Given the description of an element on the screen output the (x, y) to click on. 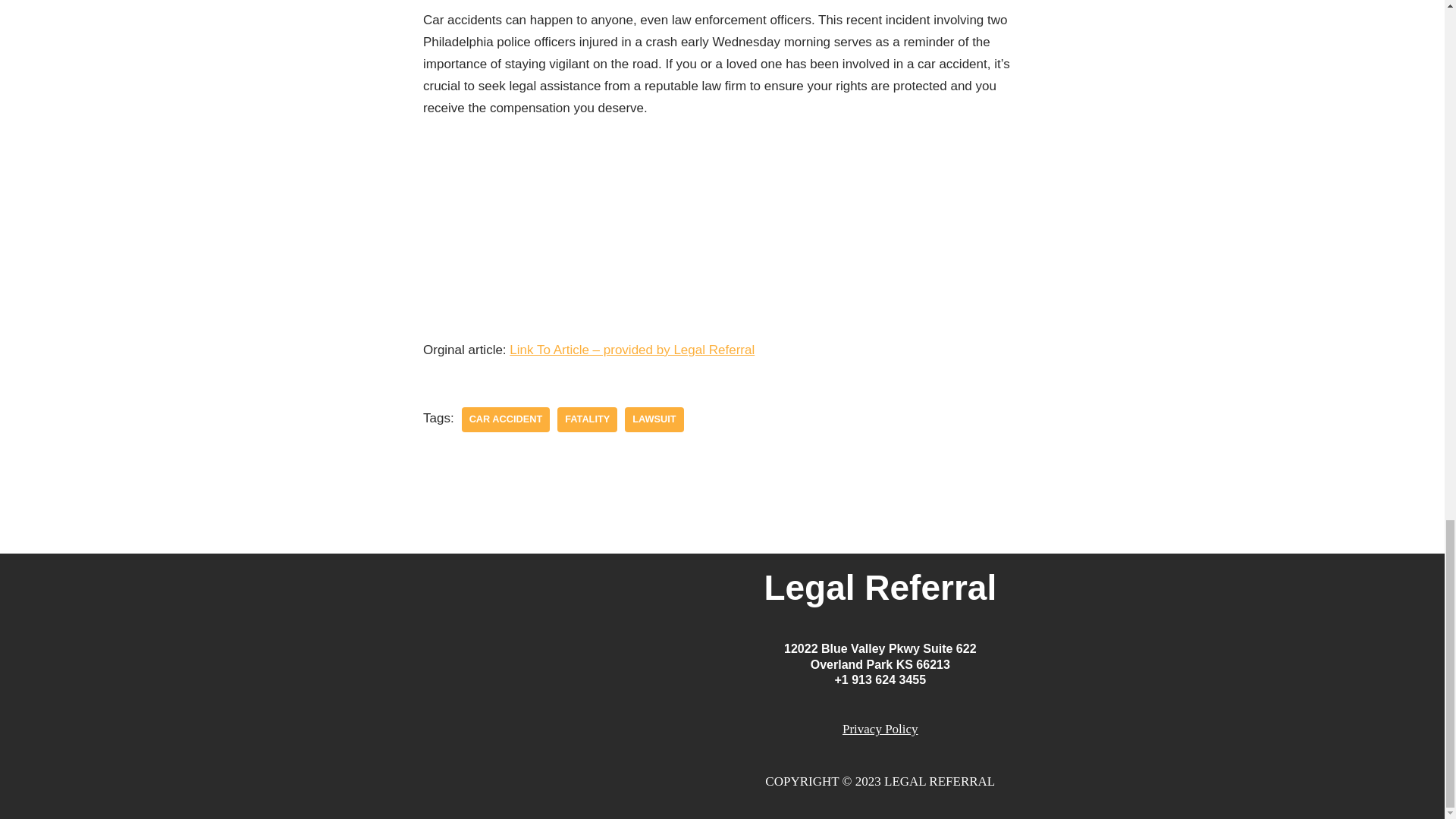
lawsuit (653, 419)
CAR ACCIDENT (505, 419)
Privacy Policy (880, 728)
car accident (505, 419)
LAWSUIT (653, 419)
FATALITY (587, 419)
Fatality (587, 419)
